Given the description of an element on the screen output the (x, y) to click on. 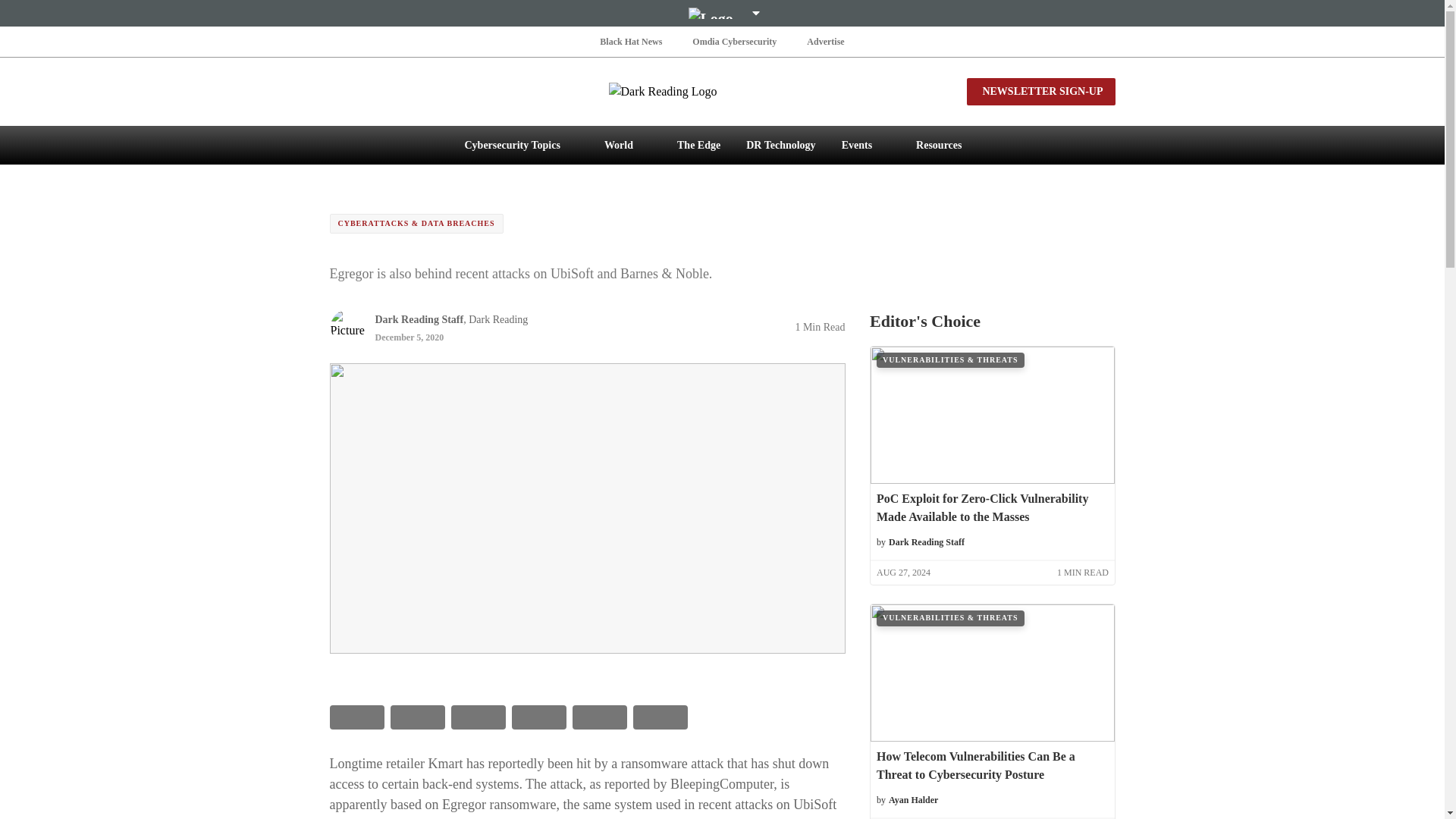
Advertise (825, 41)
Dark Reading Logo (721, 91)
NEWSLETTER SIGN-UP (1040, 90)
Black Hat News (630, 41)
Omdia Cybersecurity (733, 41)
Picture of Dark Reading Staff (347, 326)
